Given the description of an element on the screen output the (x, y) to click on. 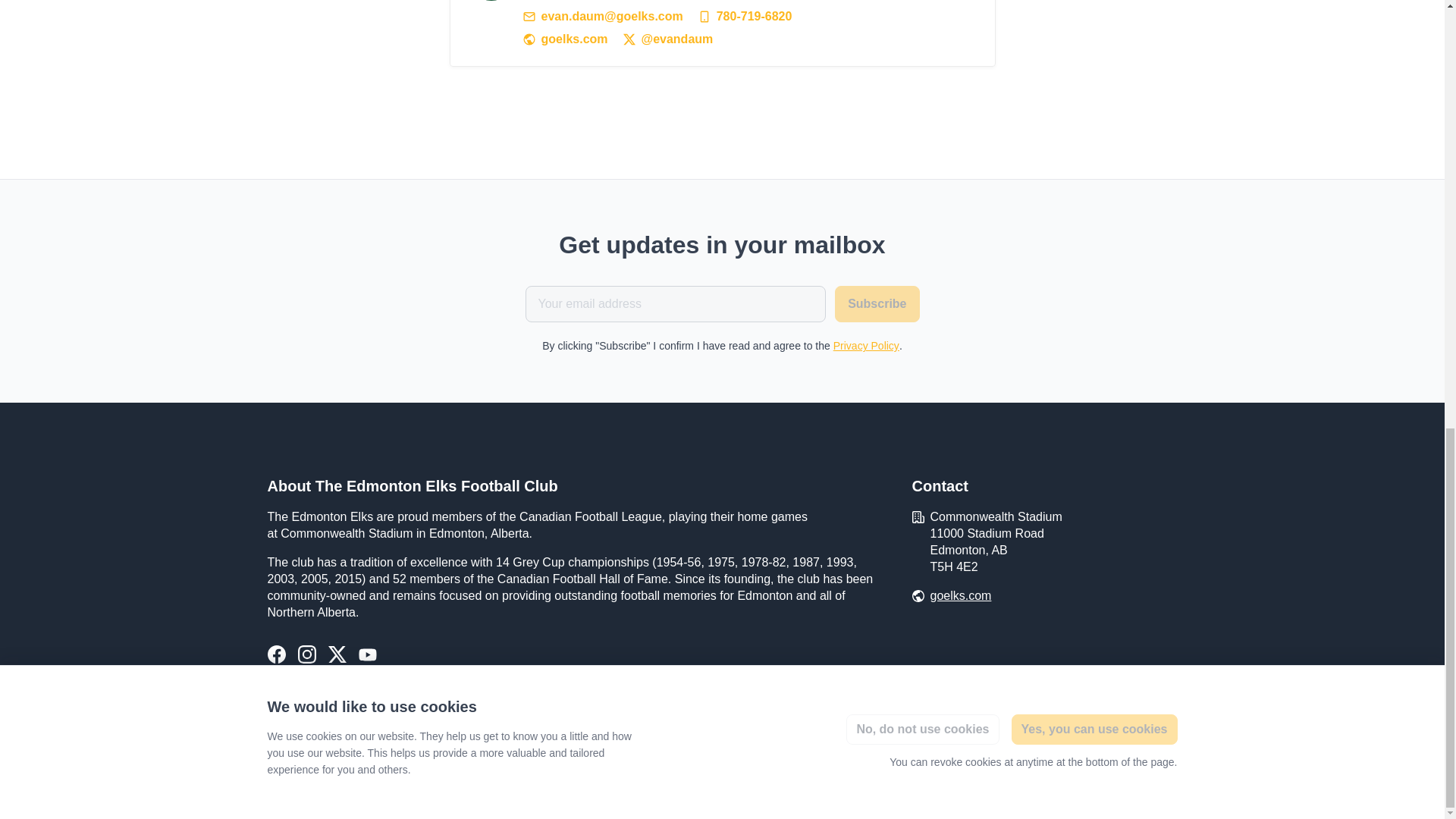
780-719-6820 (745, 16)
Privacy requests (305, 779)
Made with (1109, 779)
Start using cookies (402, 779)
goelks.com (565, 39)
Subscribe (876, 303)
Privacy Policy (865, 345)
Evan Daum (490, 0)
780-719-6820 (745, 16)
goelks.com (960, 596)
goelks.com (565, 39)
